Given the description of an element on the screen output the (x, y) to click on. 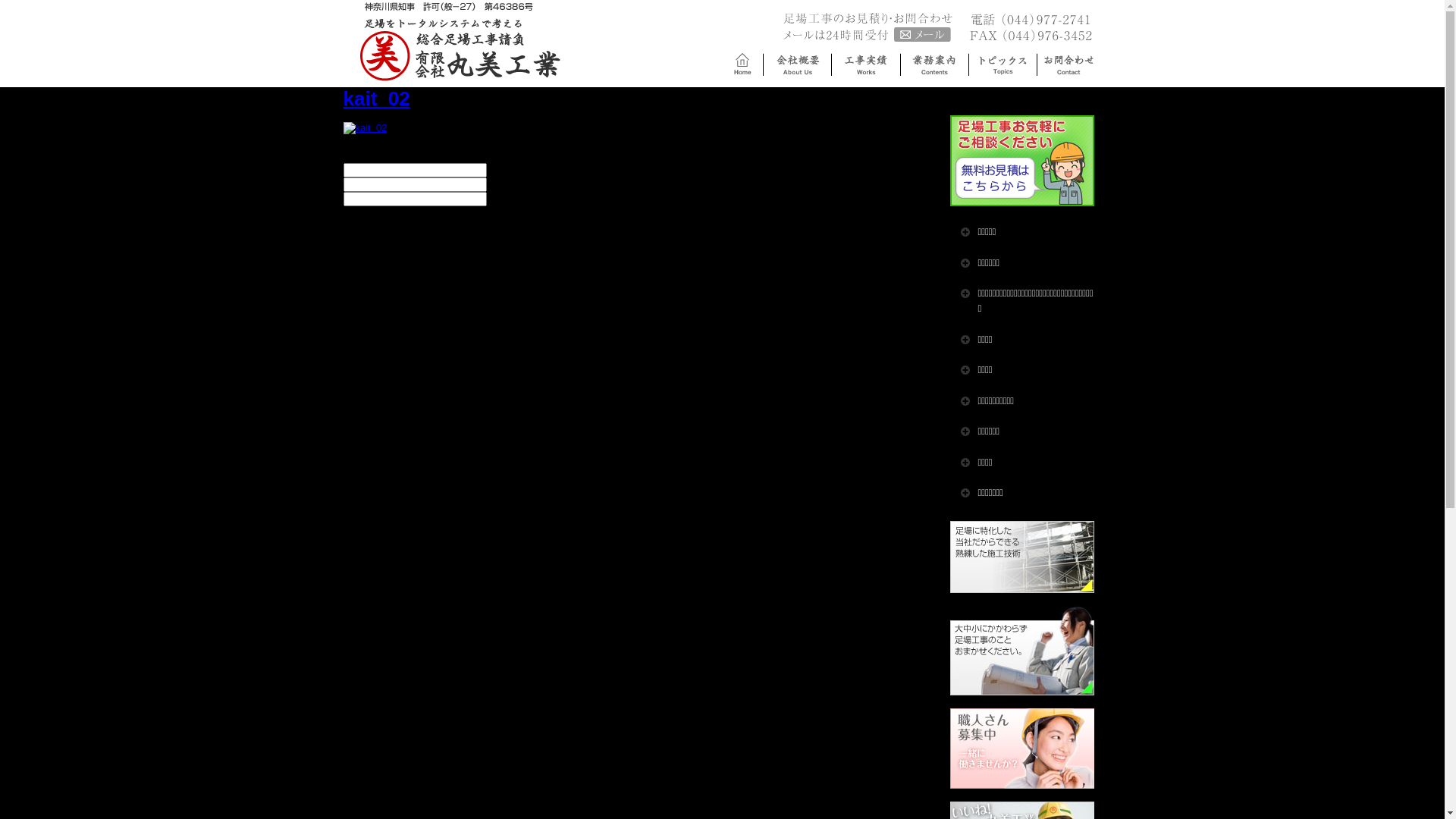
kait_02 Element type: hover (364, 127)
kait_02 Element type: hover (364, 128)
kait_02 Element type: text (375, 98)
